Given the description of an element on the screen output the (x, y) to click on. 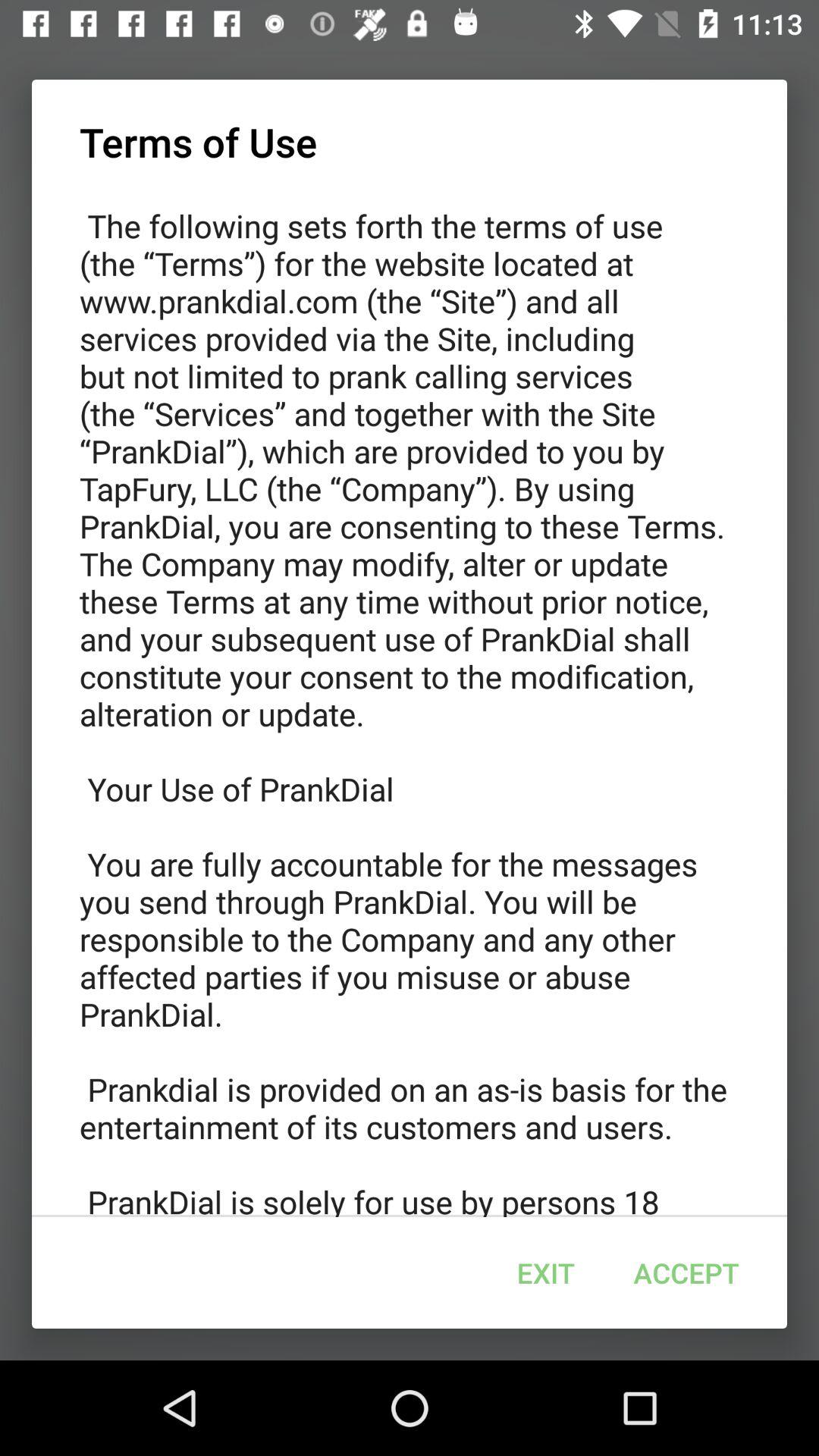
launch the item next to exit (686, 1272)
